Given the description of an element on the screen output the (x, y) to click on. 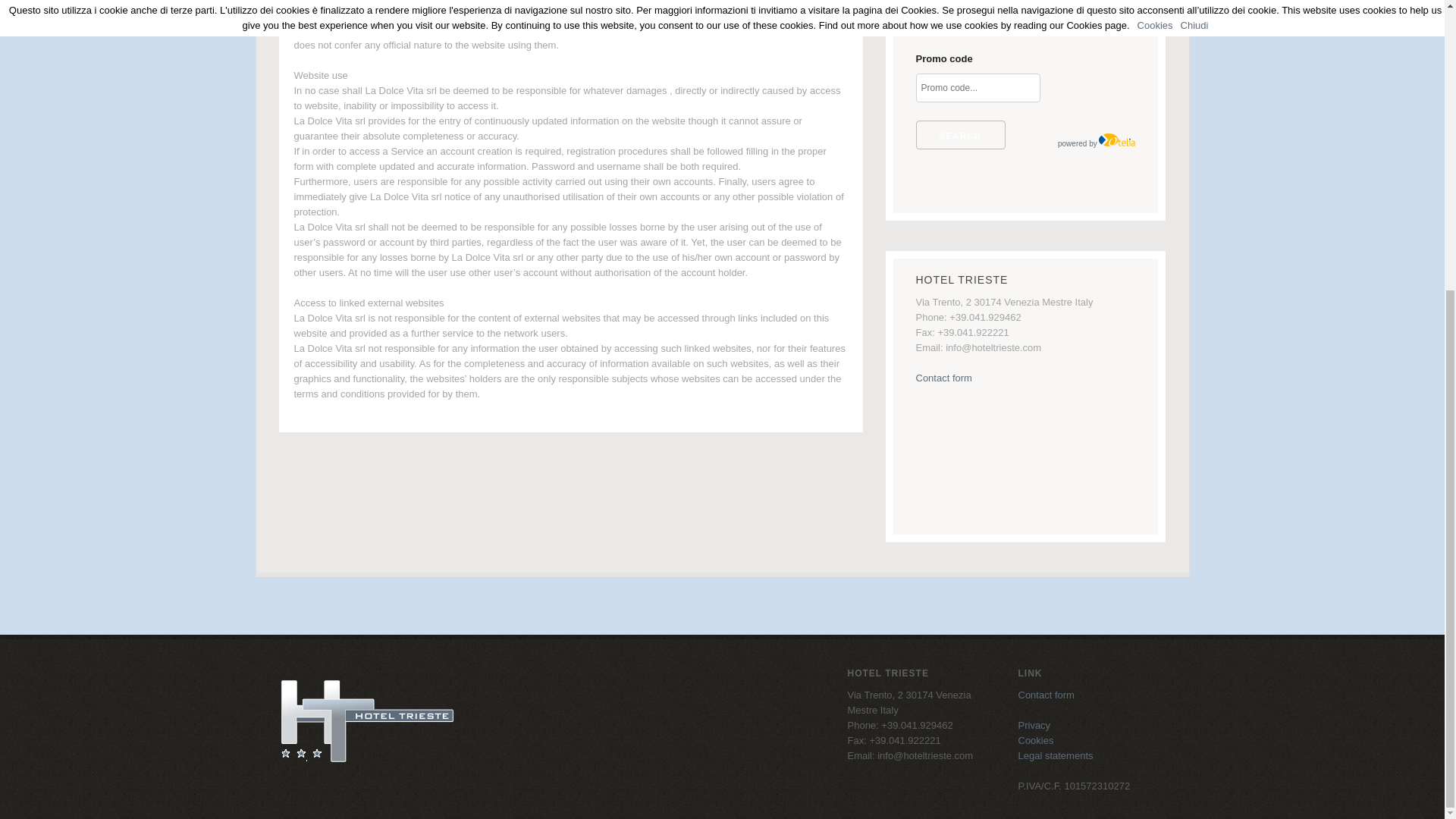
powered by (1096, 143)
Cookies (1034, 740)
Search (960, 134)
Hotel Trieste (366, 763)
Search (960, 134)
Contact form (943, 378)
Contact form (1045, 695)
Legal statements (1055, 755)
Privacy (1033, 725)
